Given the description of an element on the screen output the (x, y) to click on. 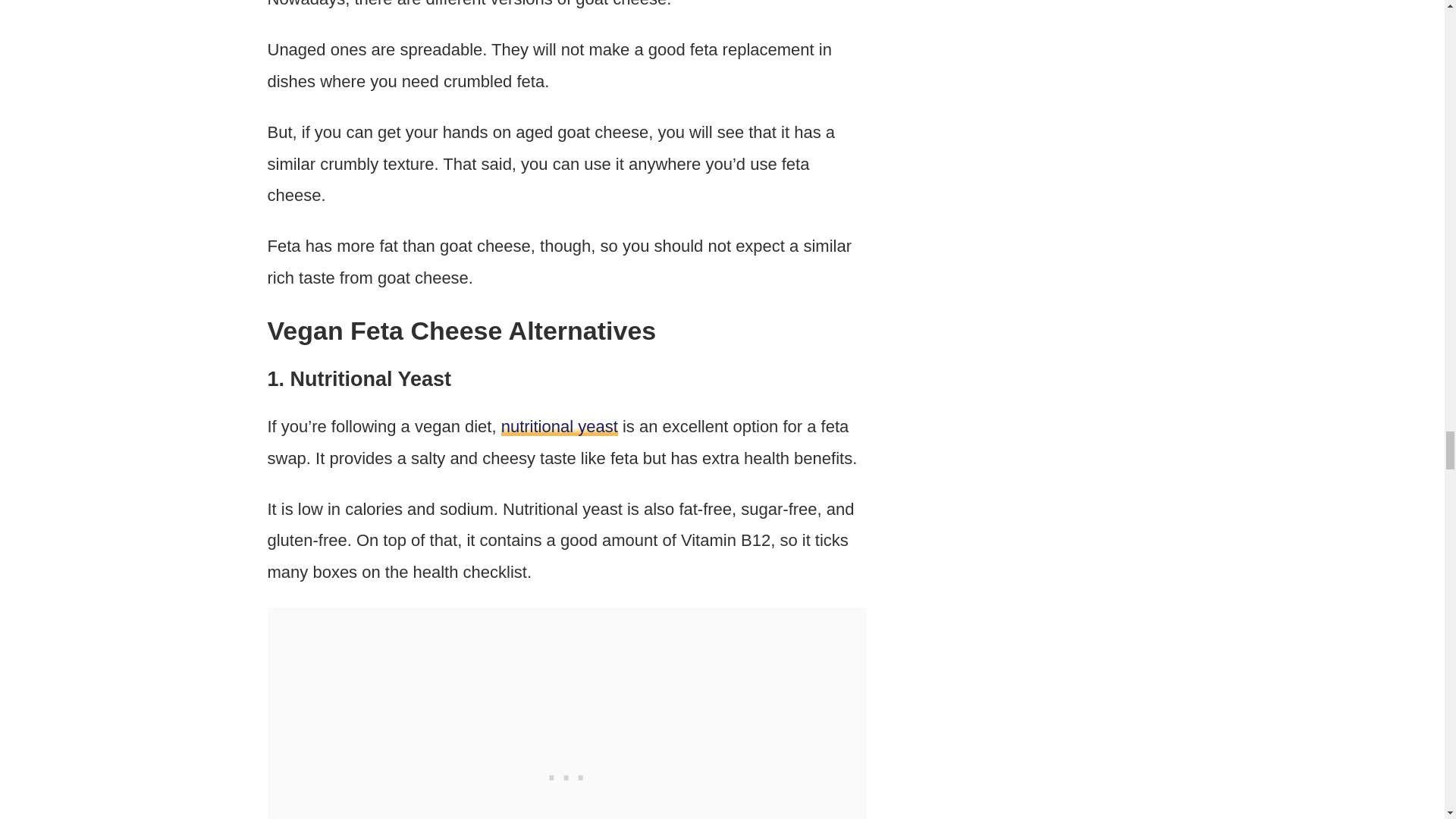
nutritional yeast (558, 425)
